Given the description of an element on the screen output the (x, y) to click on. 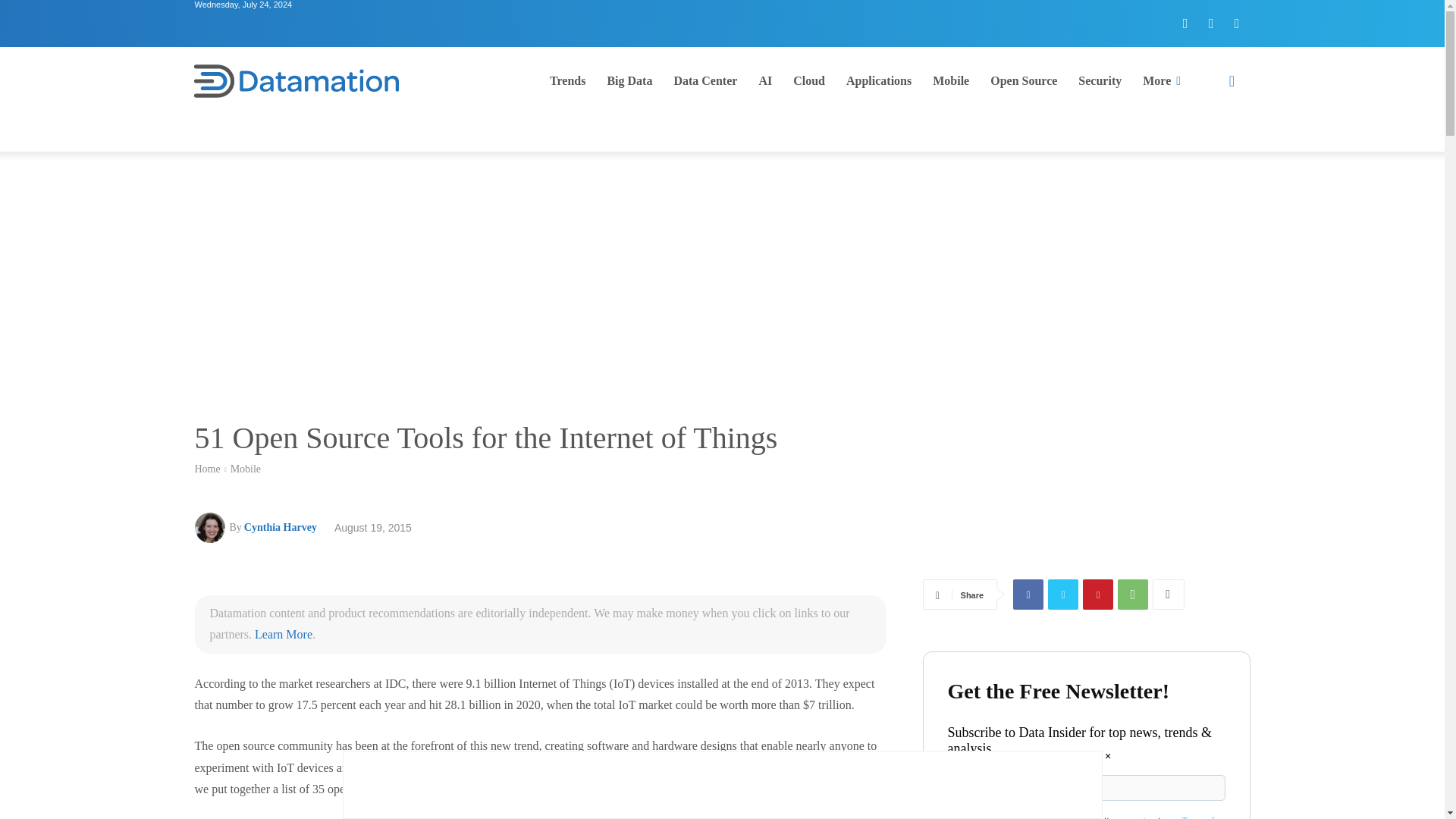
Facebook (1185, 23)
Security (1099, 81)
Learn More (283, 634)
Big Data (628, 81)
Applications (878, 81)
Youtube (1236, 23)
Twitter (1211, 23)
View all posts in Mobile (245, 469)
Cynthia Harvey (280, 527)
Open Source (1023, 81)
Data Center (705, 81)
Home (206, 469)
Mobile (950, 81)
Trends (566, 81)
Facebook (1028, 594)
